Given the description of an element on the screen output the (x, y) to click on. 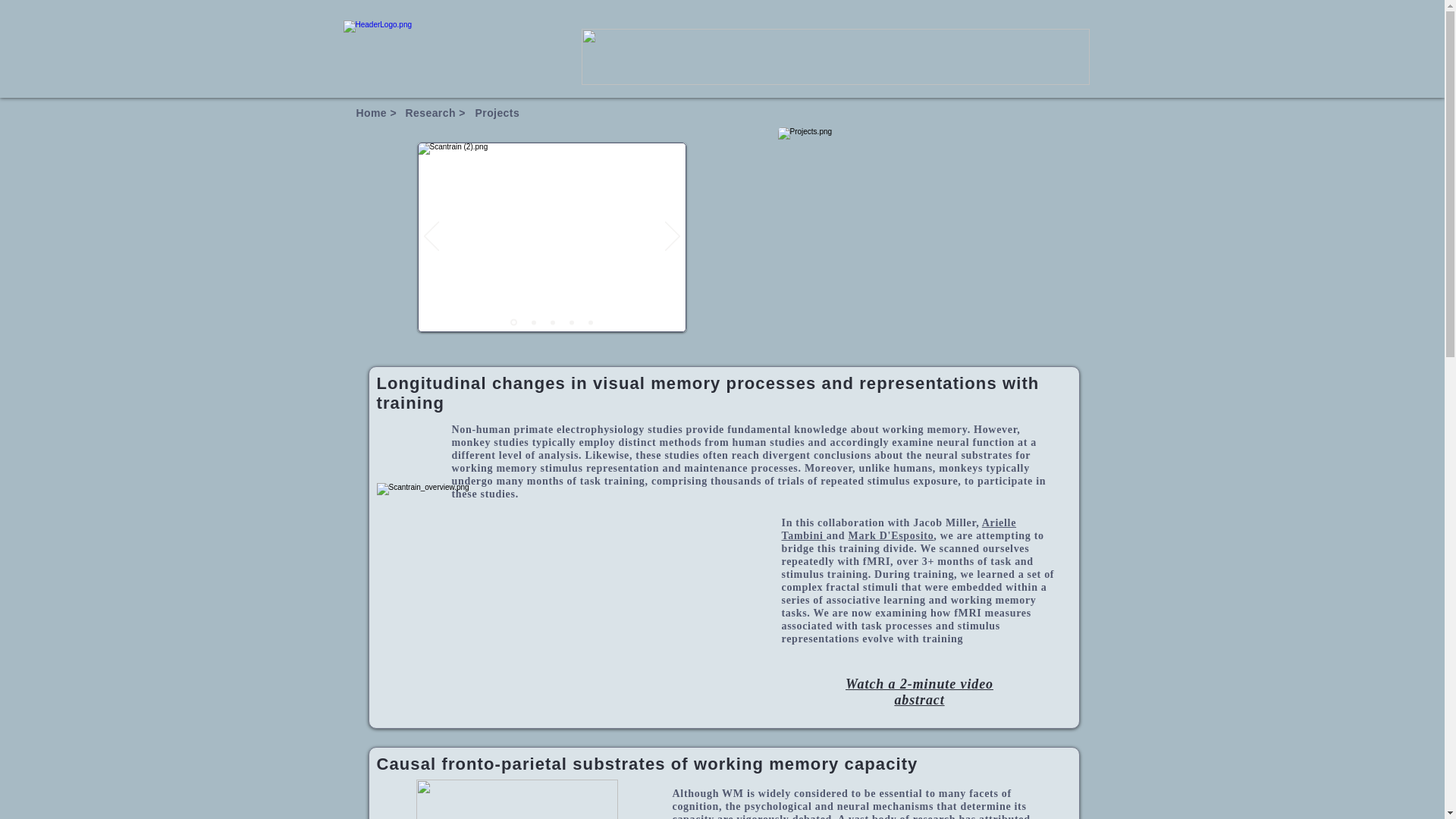
Arielle Tambini (898, 528)
Scantrain.png (570, 587)
Watch a 2-minute video abstract (918, 691)
MIPS.png (515, 799)
Mark D'Esposito (891, 535)
Jacob Miller,  (946, 522)
